Given the description of an element on the screen output the (x, y) to click on. 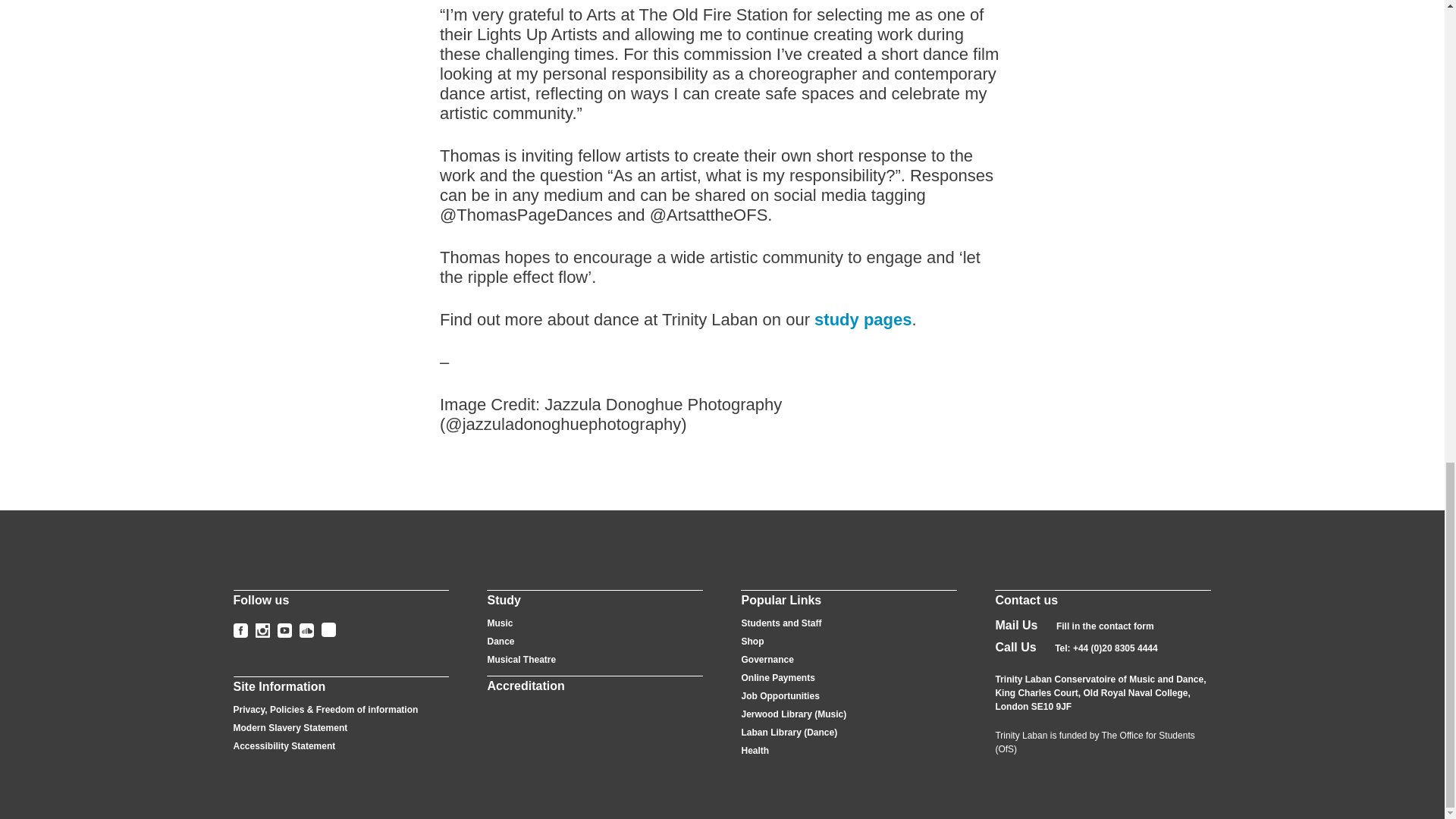
Trinity Laban's Facebook page (239, 630)
Contact form (1105, 626)
Trinity Laban's YouTube channel (285, 630)
Trinity Laban's Tiktok profile (328, 629)
Trinity Laban's Instagram profile (261, 630)
Trinity Laban's SoundCloud page (305, 630)
